Given the description of an element on the screen output the (x, y) to click on. 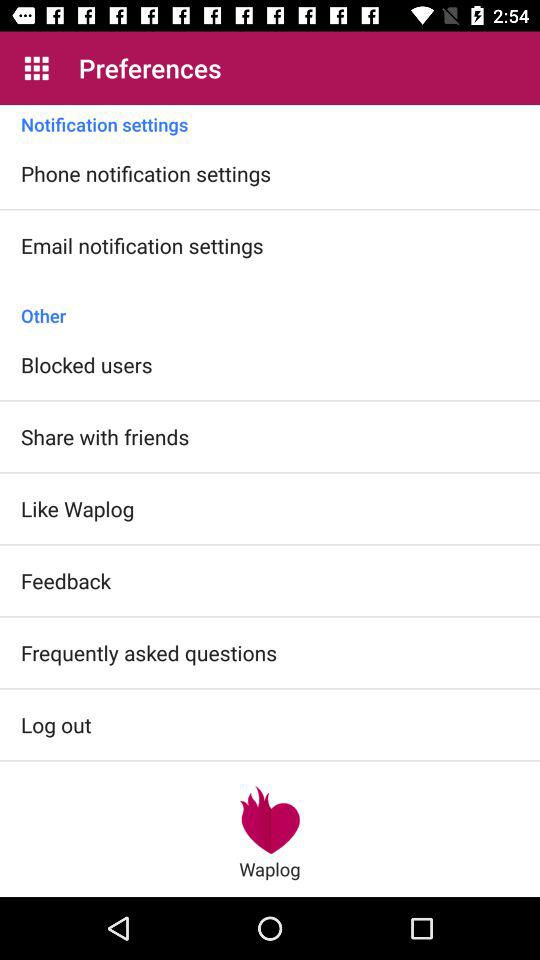
tap blocked users icon (86, 364)
